Given the description of an element on the screen output the (x, y) to click on. 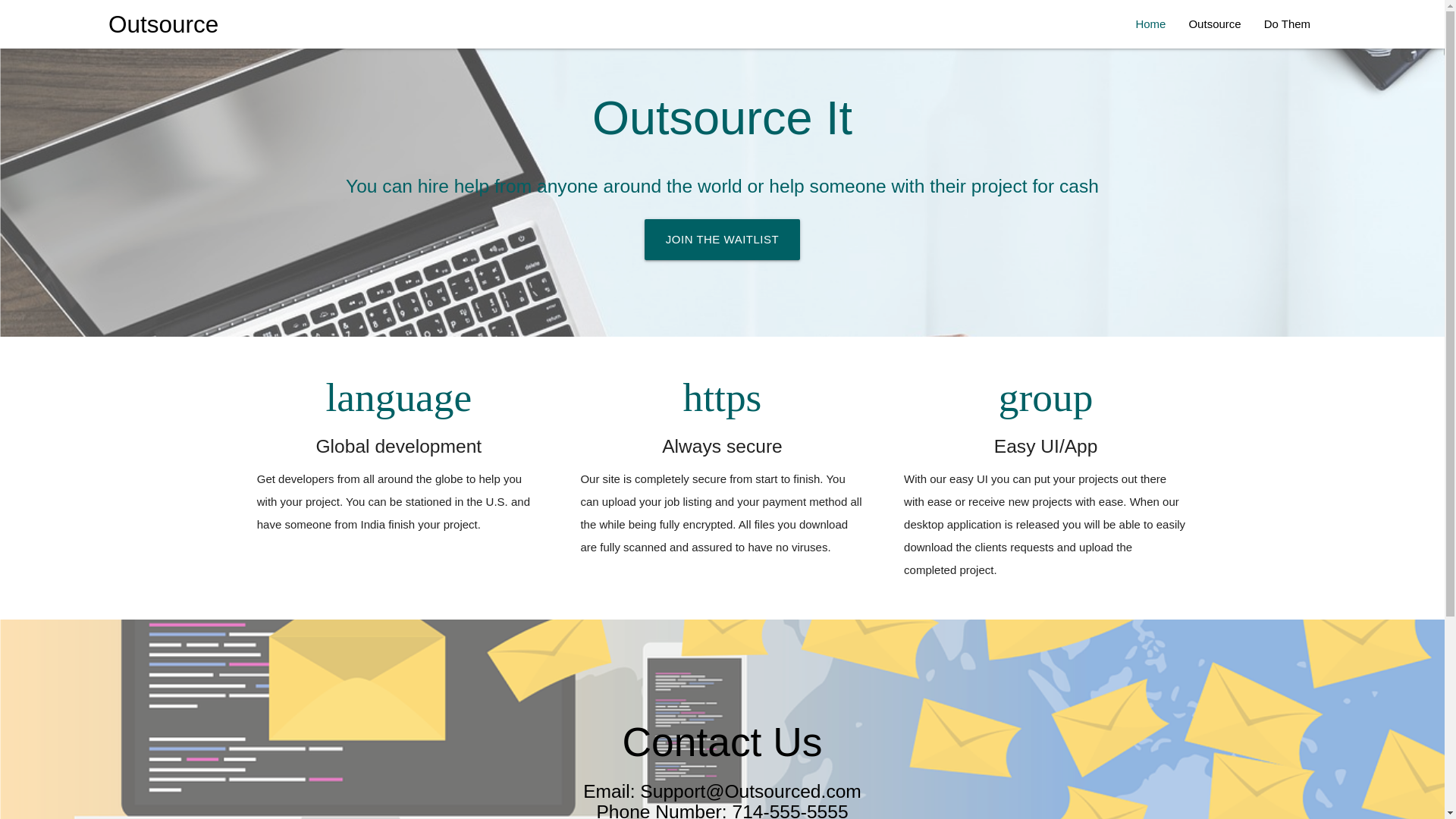
JOIN THE WAITLIST (722, 239)
Home (1150, 24)
Outsource (1214, 24)
Do Them (1287, 24)
Outsource (162, 24)
